Given the description of an element on the screen output the (x, y) to click on. 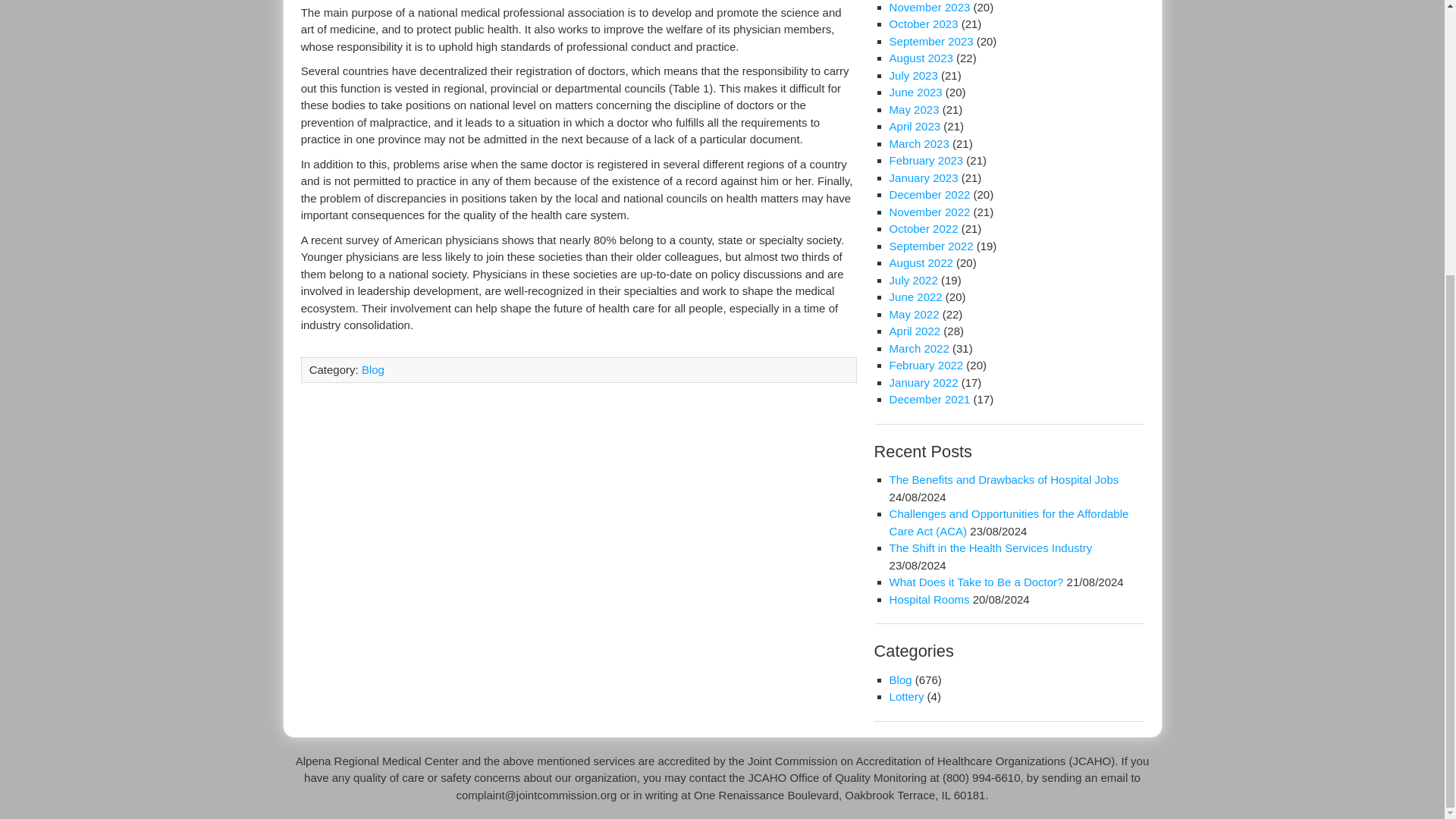
November 2023 (930, 6)
January 2023 (923, 177)
March 2023 (919, 143)
June 2023 (915, 91)
September 2023 (931, 41)
February 2023 (926, 160)
Blog (372, 369)
May 2023 (914, 109)
August 2023 (921, 57)
April 2023 (914, 125)
